Given the description of an element on the screen output the (x, y) to click on. 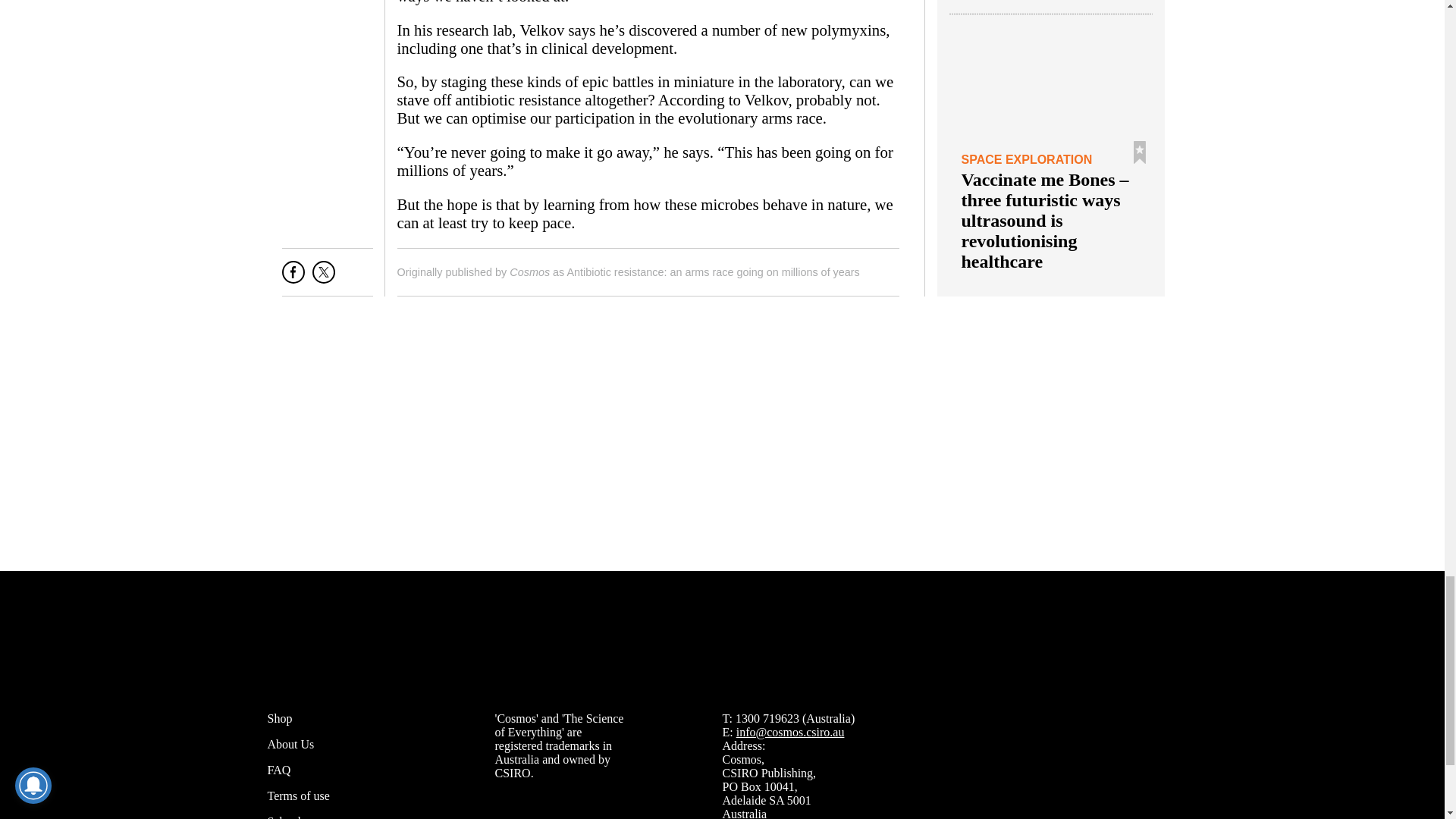
Share on Facebook (293, 277)
Tweet (323, 277)
